Given the description of an element on the screen output the (x, y) to click on. 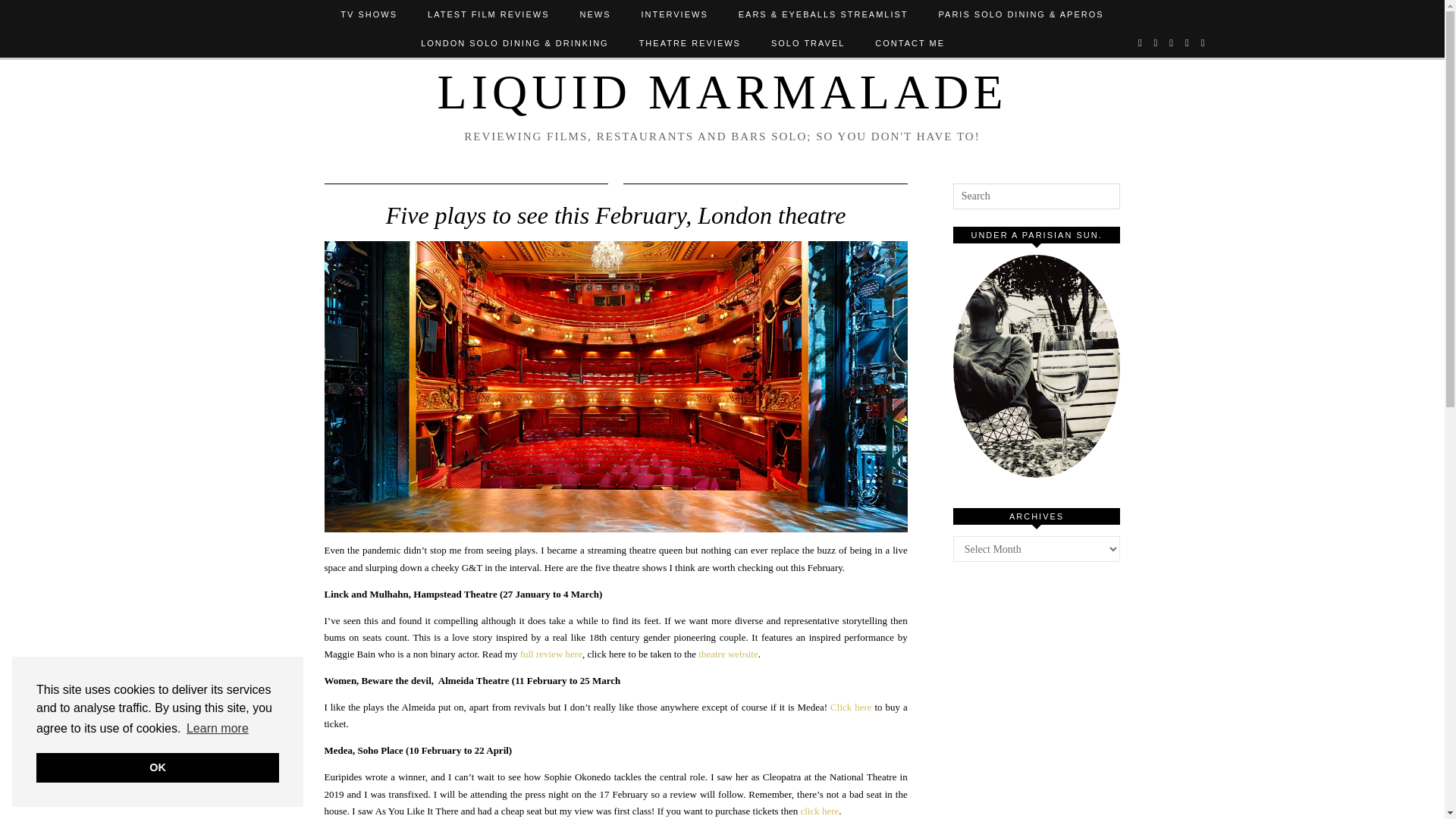
Learn more (217, 728)
Liquid Marmalade (722, 91)
OK (157, 767)
